Given the description of an element on the screen output the (x, y) to click on. 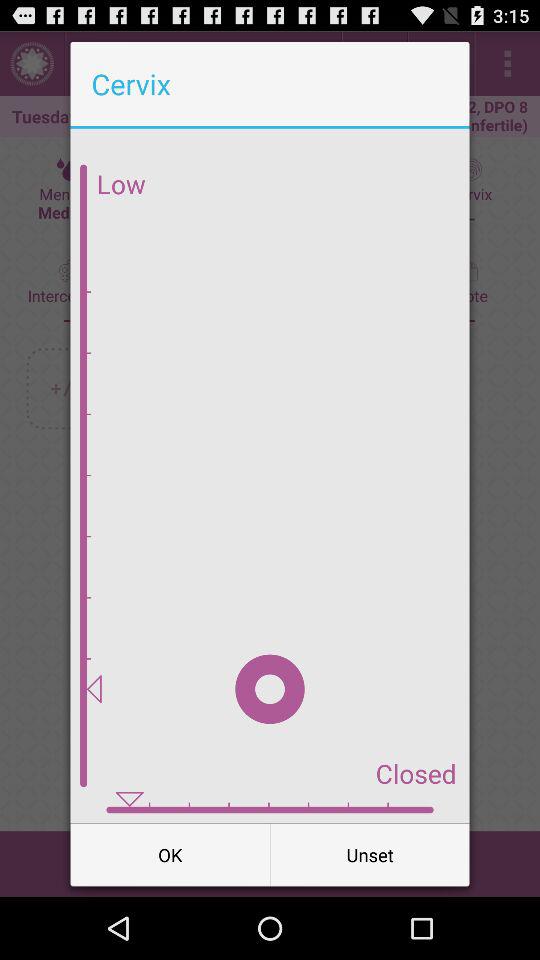
open the icon to the right of ok icon (369, 854)
